Given the description of an element on the screen output the (x, y) to click on. 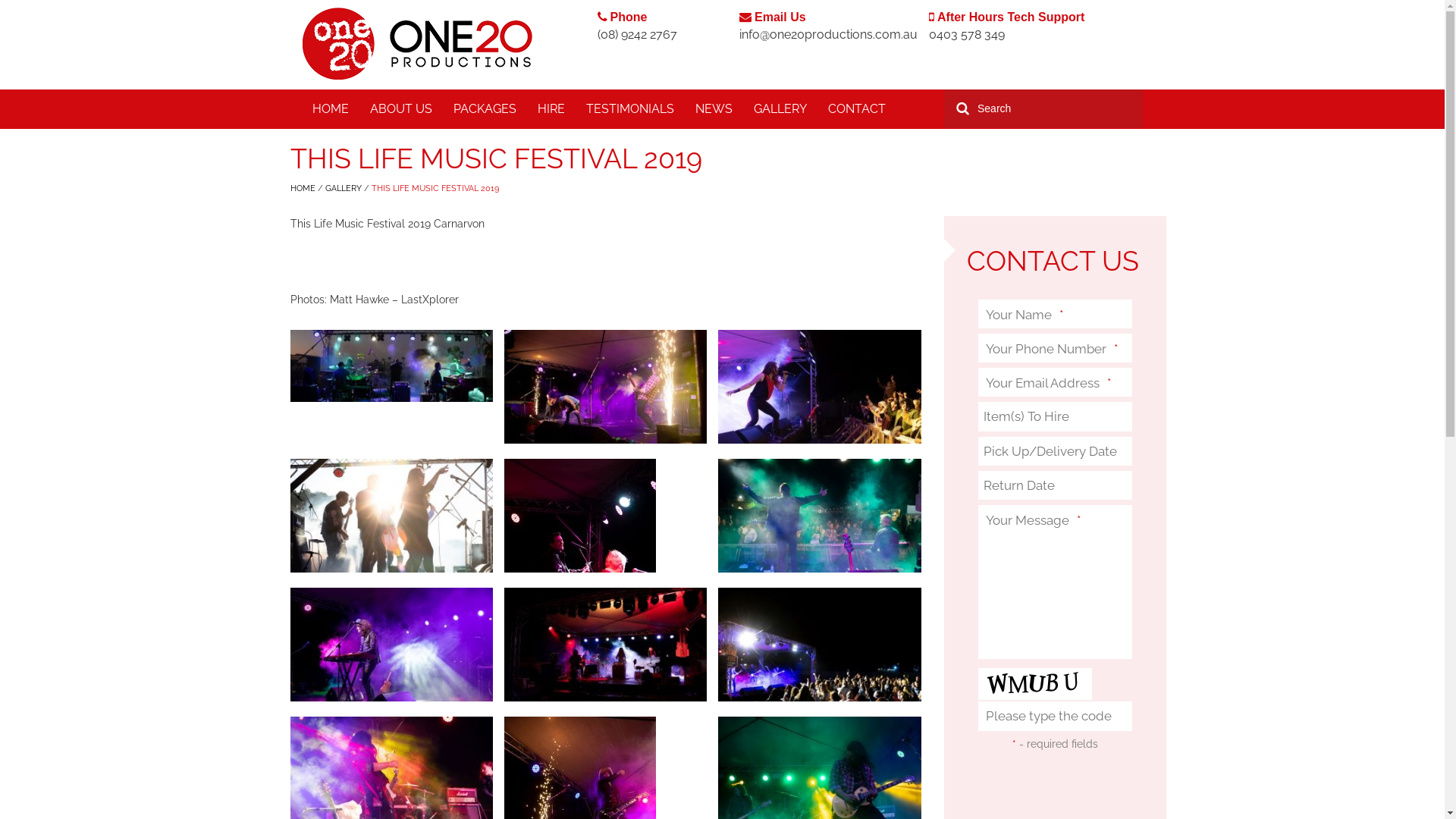
Search Element type: text (960, 108)
GALLERY Element type: text (780, 108)
ABOUT US Element type: text (400, 108)
0403 578 349 Element type: text (966, 34)
TESTIMONIALS Element type: text (629, 108)
HIRE Element type: text (550, 108)
GALLERY Element type: text (343, 188)
One 20 Productions Element type: hover (417, 43)
NEWS Element type: text (713, 108)
HOME Element type: text (302, 188)
(08) 9242 2767 Element type: text (637, 34)
HOME Element type: text (330, 108)
PACKAGES Element type: text (484, 108)
info@one20productions.com.au Element type: text (828, 34)
CONTACT Element type: text (856, 108)
